Given the description of an element on the screen output the (x, y) to click on. 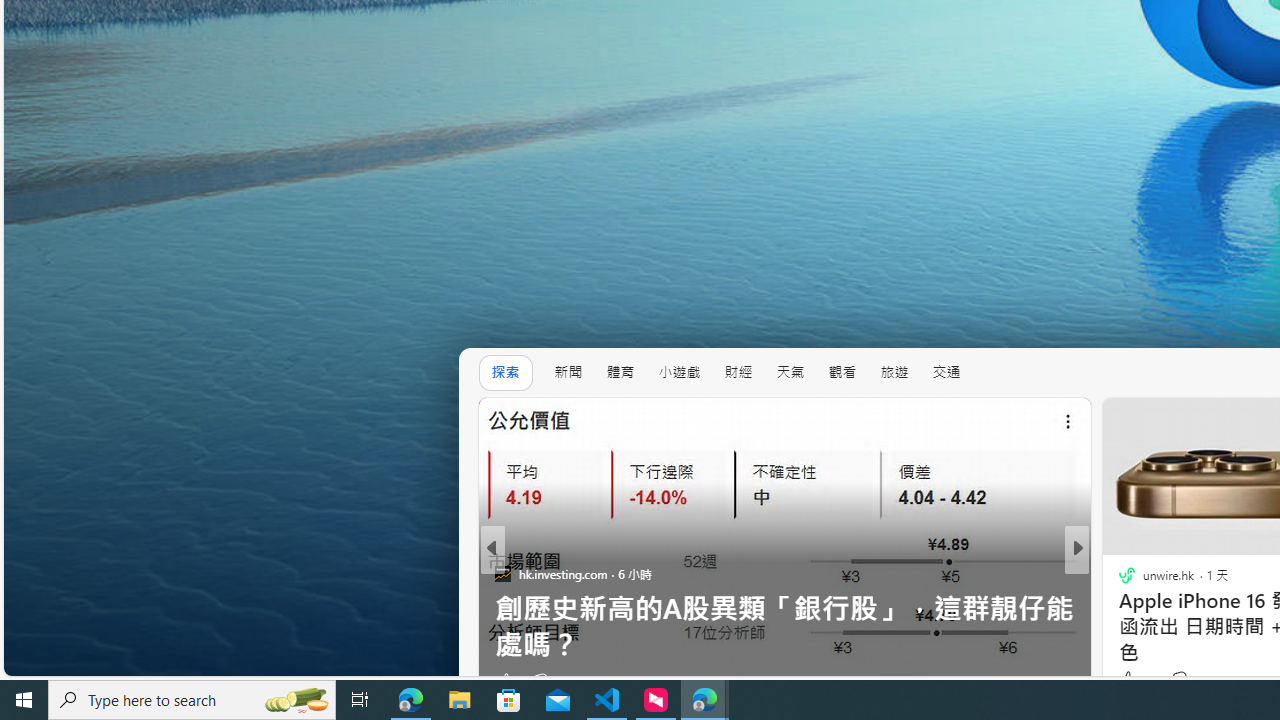
ELLE HK (1117, 573)
hk.investing.com (502, 573)
FinTV (1117, 609)
